Given the description of an element on the screen output the (x, y) to click on. 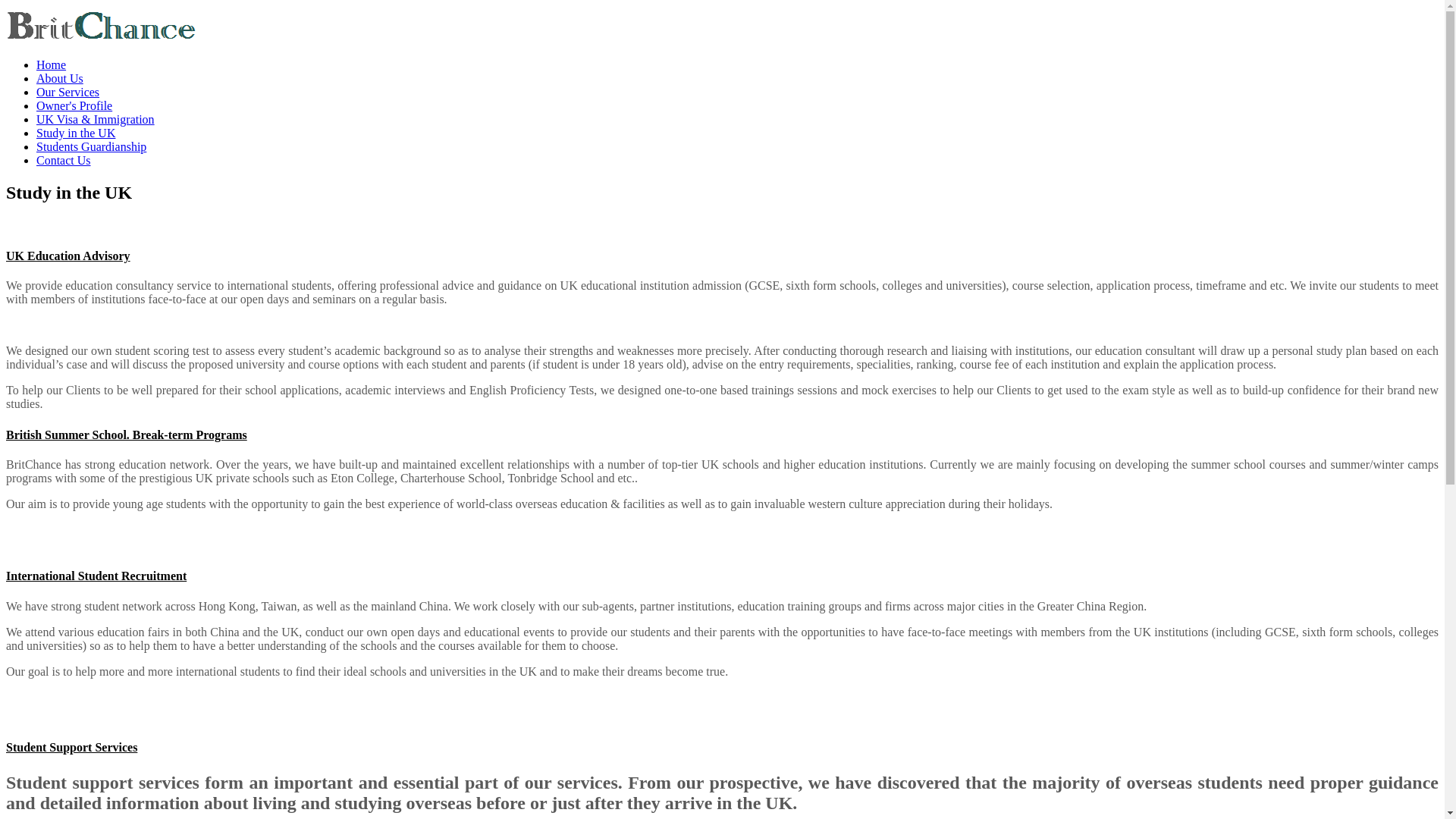
Study in the UK (75, 132)
Our Services (67, 91)
Home (50, 64)
About Us (59, 78)
Contact Us (63, 160)
Students Guardianship (91, 146)
Owner's Profile (74, 105)
